Given the description of an element on the screen output the (x, y) to click on. 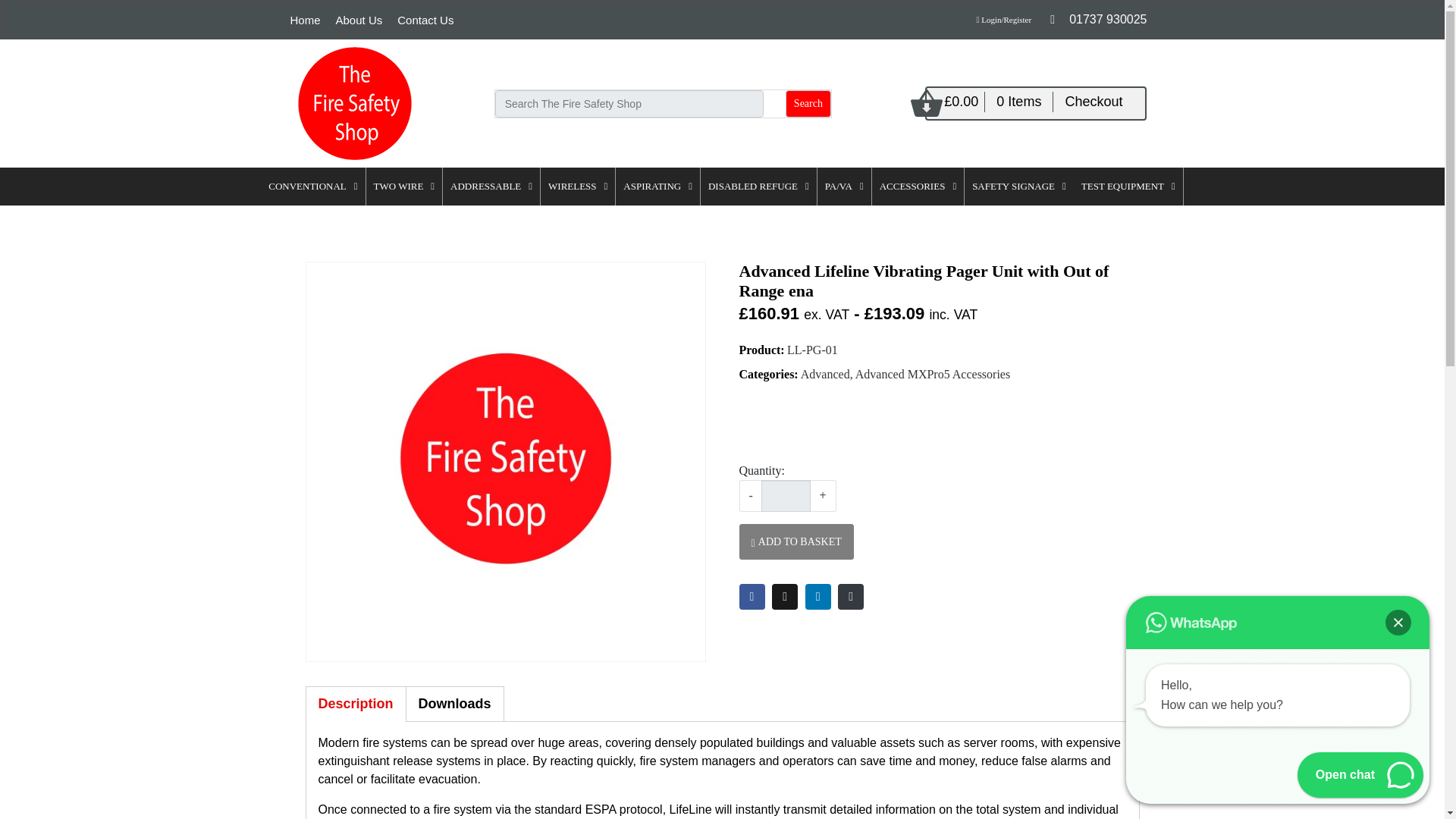
Search (808, 103)
Contact Us (424, 19)
Home (1277, 726)
01737 930025 (304, 19)
About Us (1098, 19)
Search (359, 19)
CONVENTIONAL (808, 103)
Close (312, 186)
Search (1398, 622)
